Given the description of an element on the screen output the (x, y) to click on. 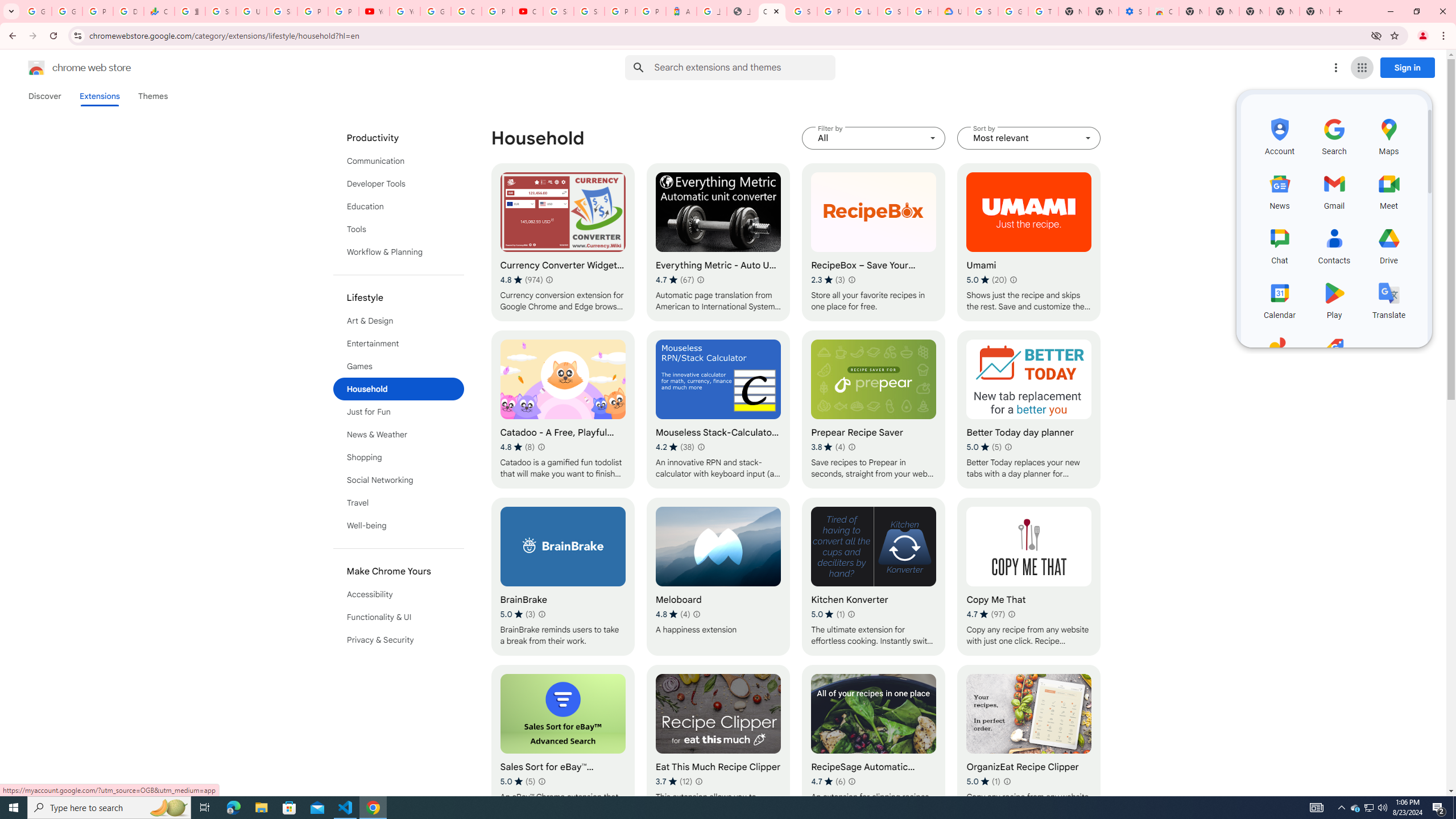
Chrome Web Store - Accessibility extensions (1163, 11)
Developer Tools (398, 182)
Google Workspace Admin Community (36, 11)
Sign in - Google Accounts (220, 11)
Learn more about results and reviews "BrainBrake" (542, 613)
Atour Hotel - Google hotels (681, 11)
